Given the description of an element on the screen output the (x, y) to click on. 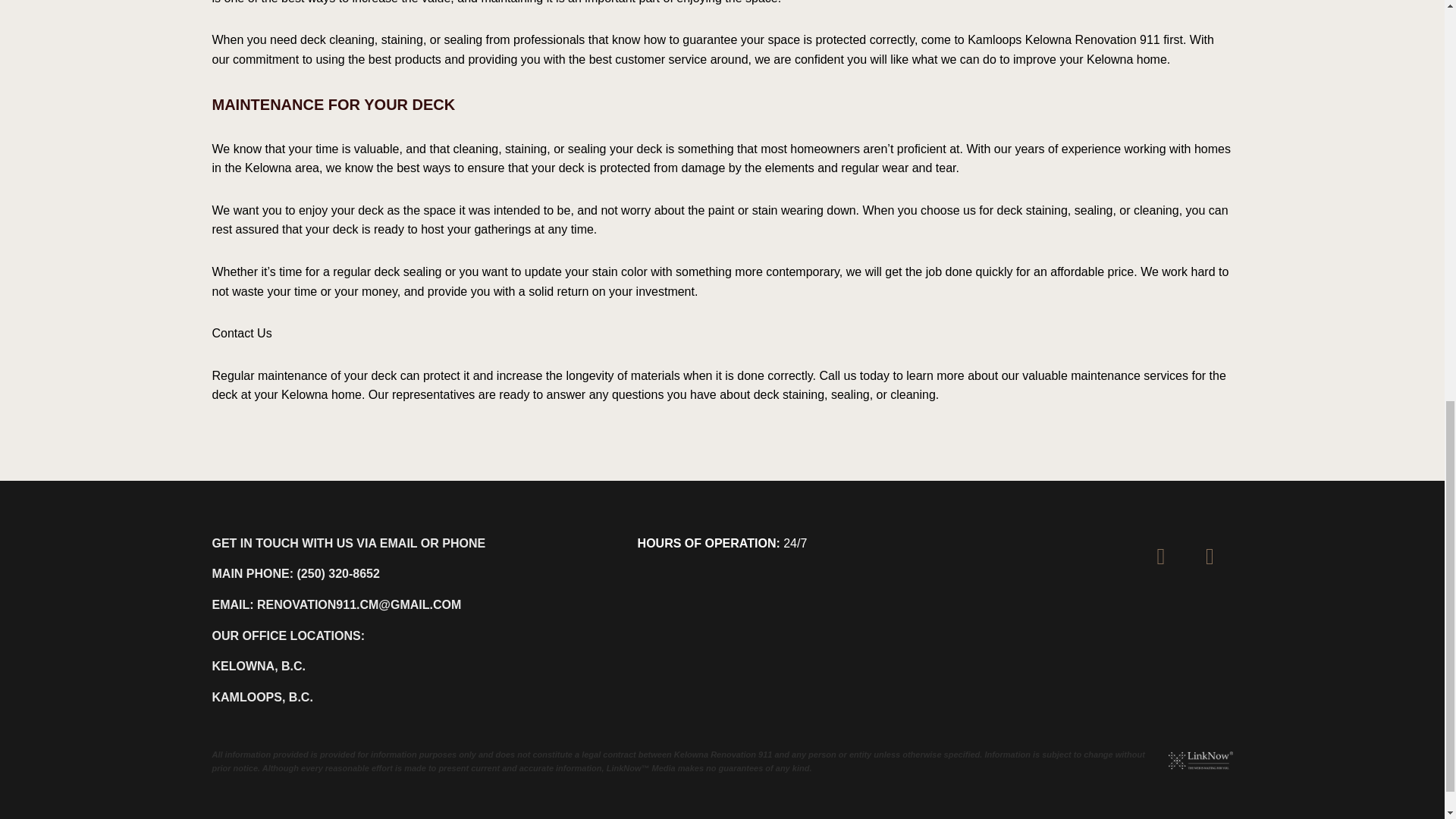
Kelowna Renovation 911's Google Maps (1210, 559)
